Given the description of an element on the screen output the (x, y) to click on. 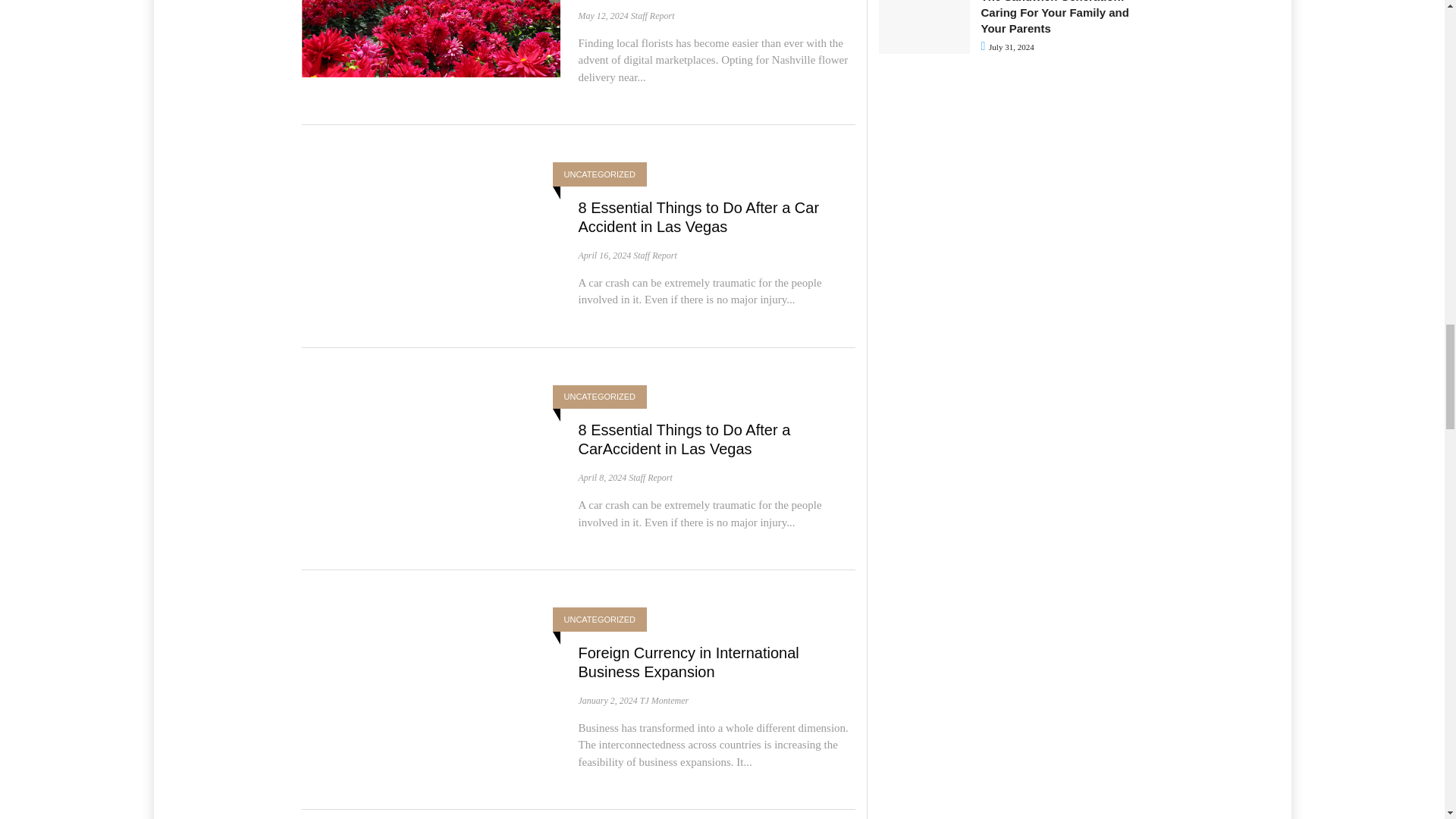
Posts by TJ Montemer (664, 700)
Staff Report (652, 15)
Foreign Currency in International Business Expansion (687, 662)
Posts by Staff Report (655, 255)
Posts by Staff Report (650, 477)
Posts by Staff Report (652, 15)
8 Essential Things to Do After a CarAccident in Las Vegas (684, 439)
8 Essential Things to Do After a Car Accident in Las Vegas (698, 217)
